Given the description of an element on the screen output the (x, y) to click on. 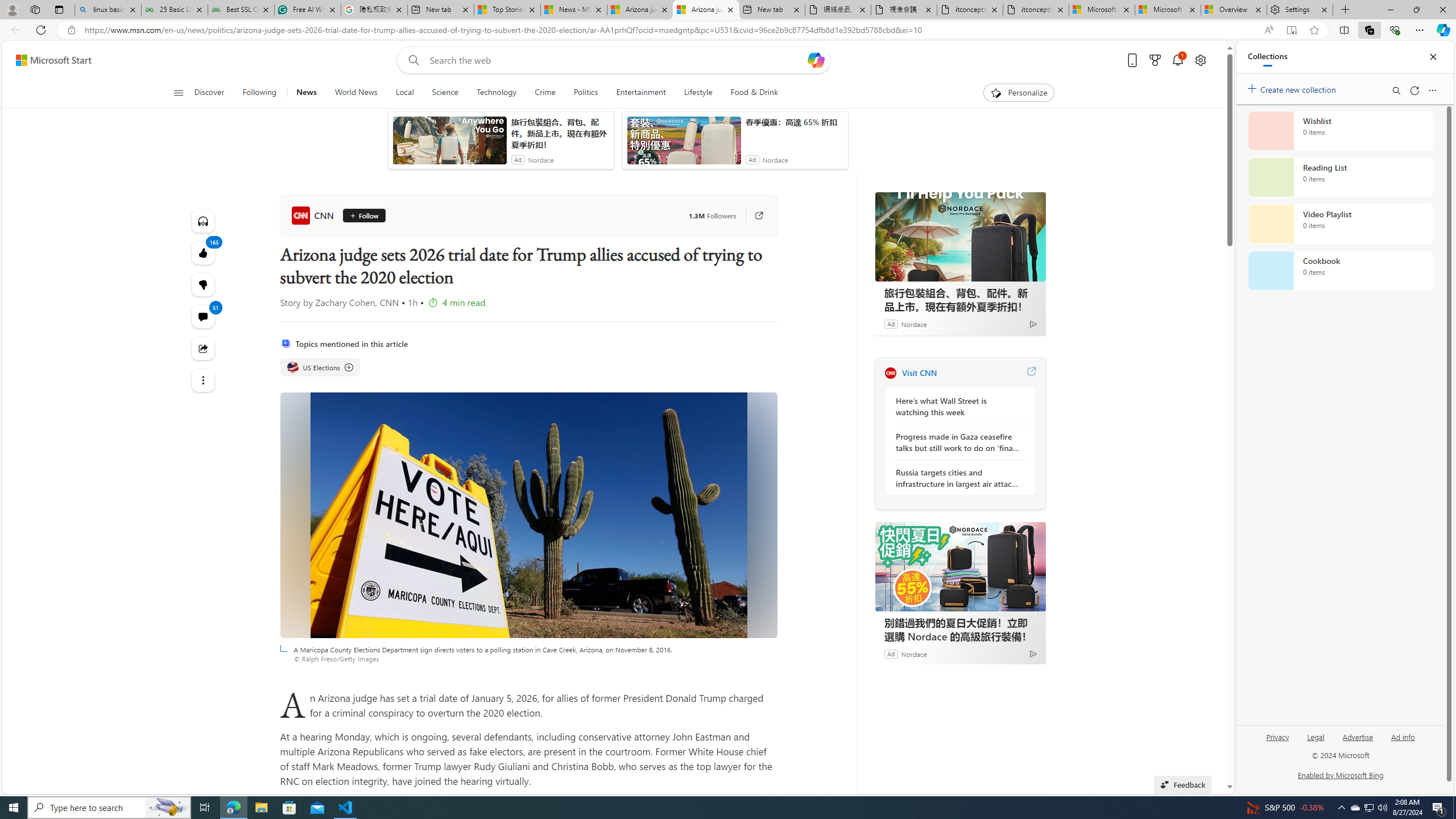
Enter your search term (617, 59)
Lifestyle (697, 92)
linux basic - Search (107, 9)
Class: at-item (202, 380)
Advertise (1357, 736)
Microsoft rewards (1154, 60)
Open settings (1199, 60)
Legal (1315, 736)
